Given the description of an element on the screen output the (x, y) to click on. 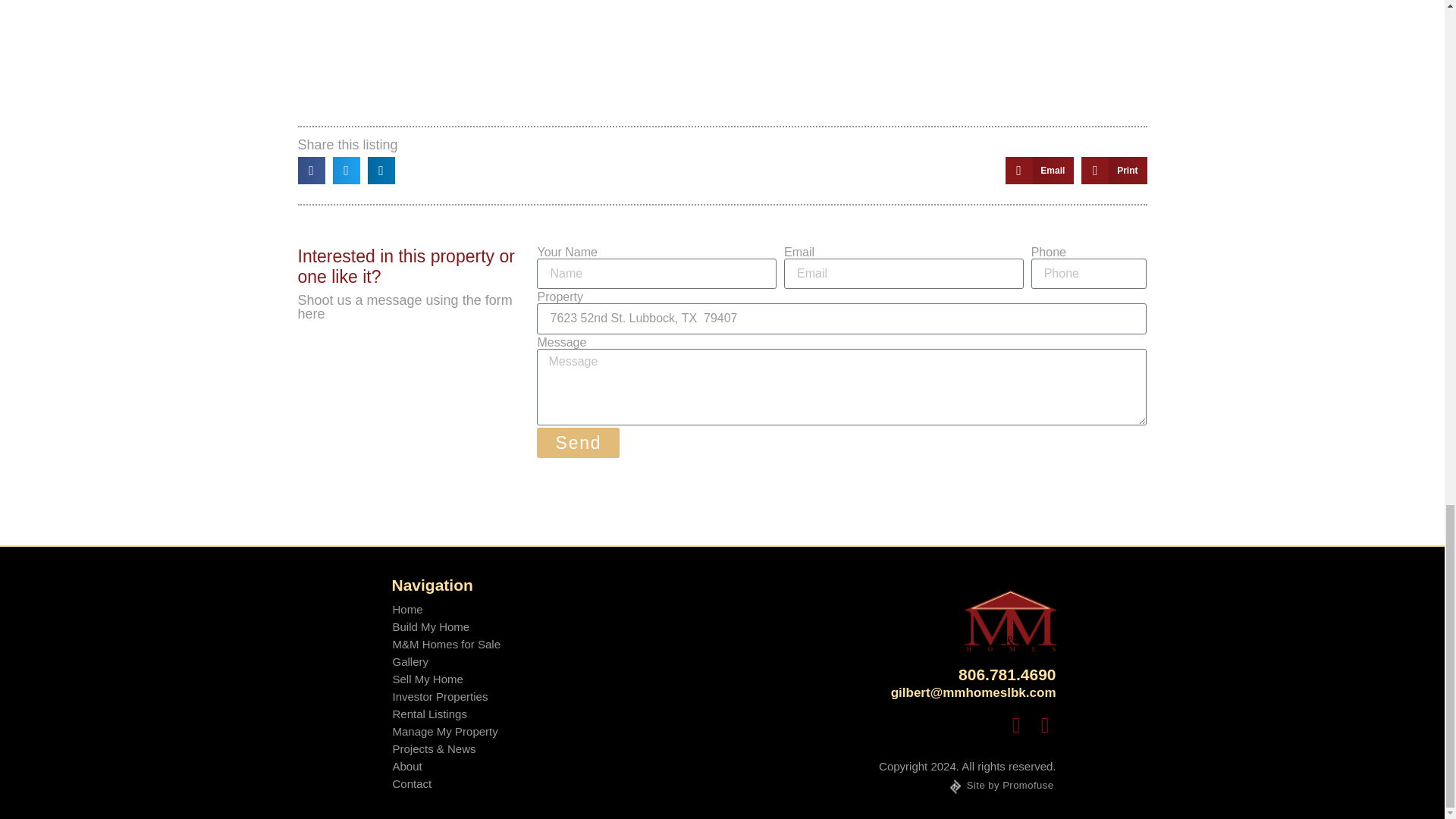
Gallery (445, 661)
7623 52nd St. Lubbock, TX  79407  (722, 57)
Sell My Home (445, 678)
Home (445, 609)
Send (578, 442)
Build My Home (445, 626)
7623 52nd St. Lubbock, TX  79407  (842, 318)
